Given the description of an element on the screen output the (x, y) to click on. 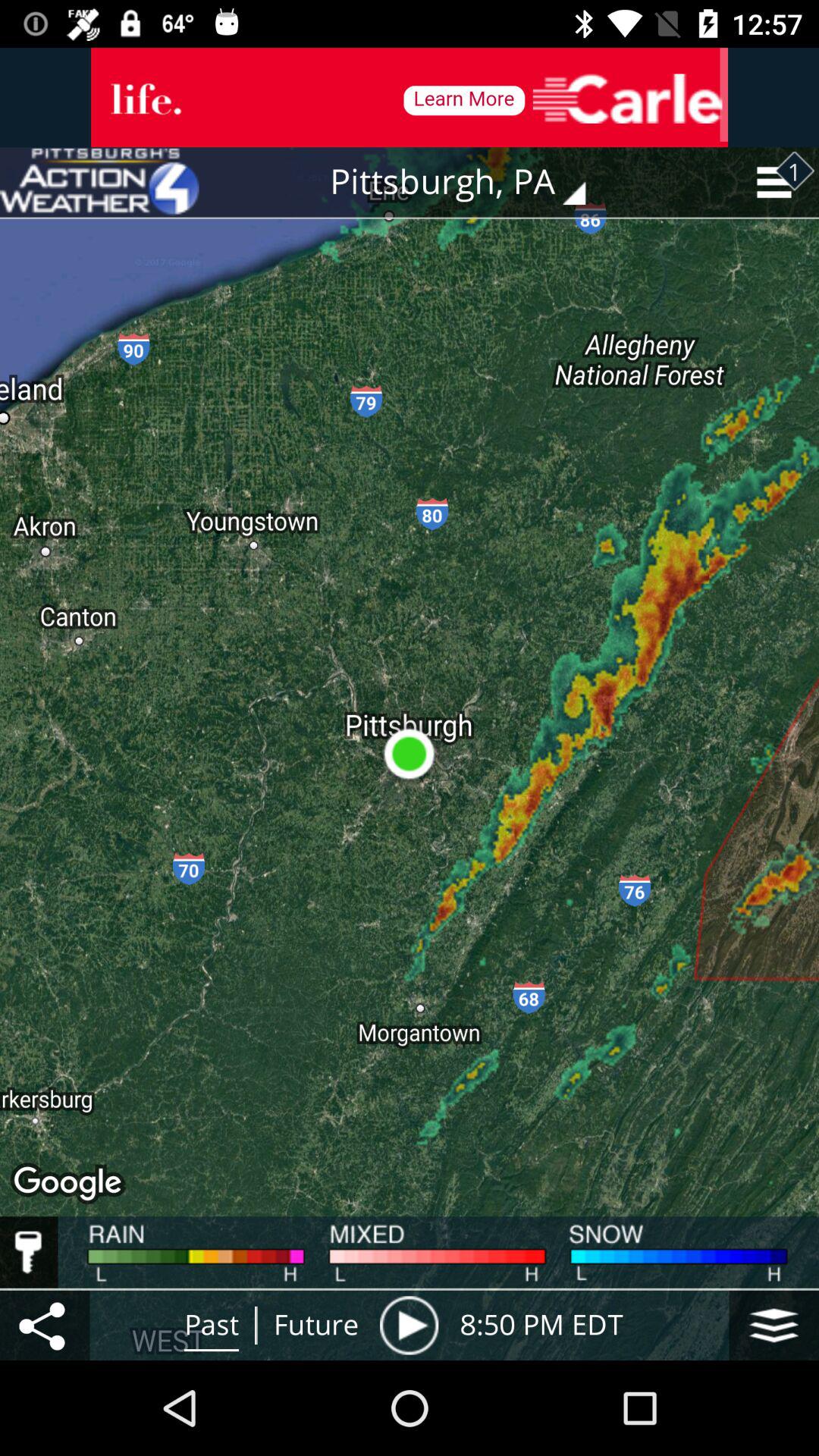
open menu (44, 1325)
